Given the description of an element on the screen output the (x, y) to click on. 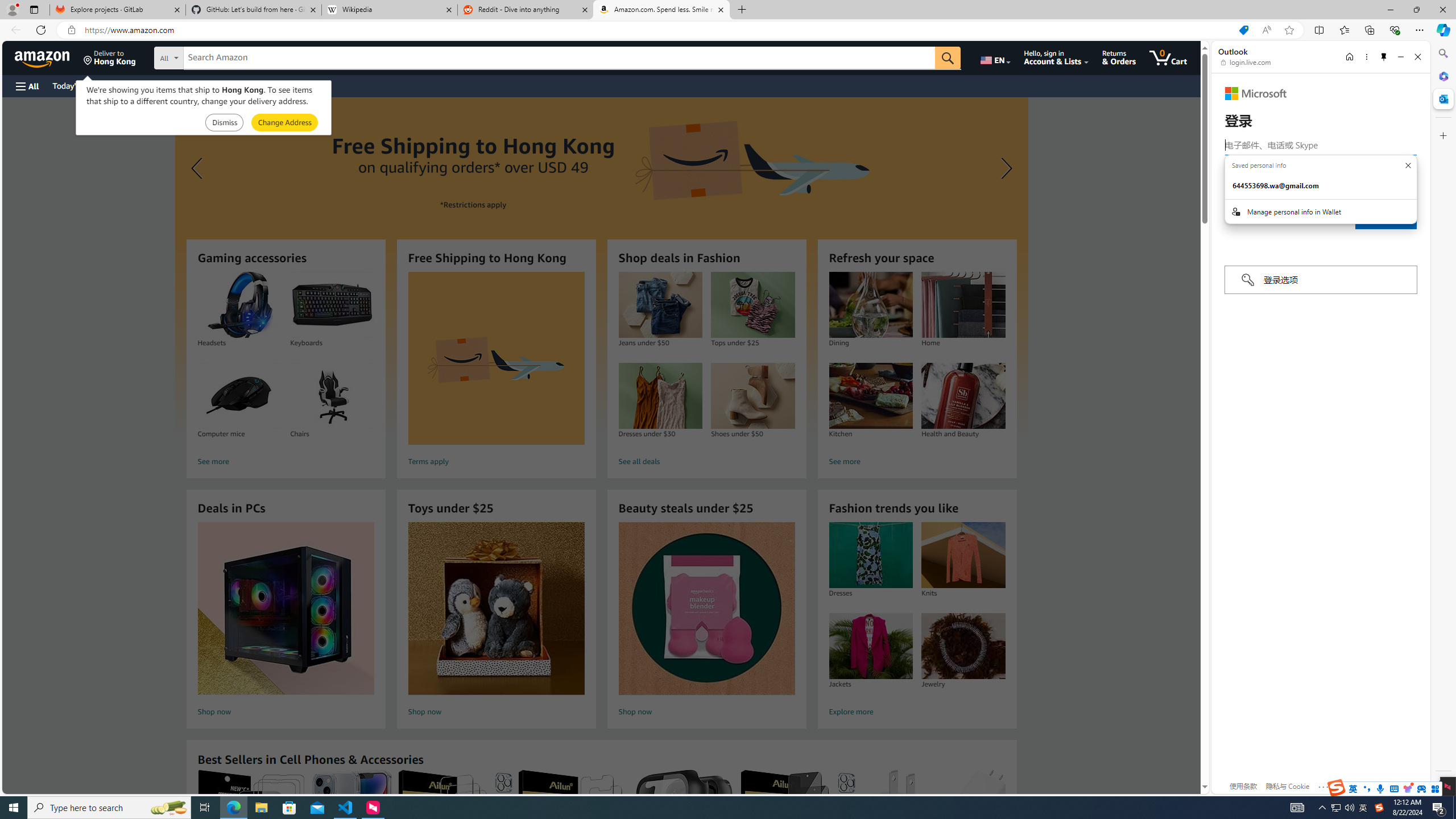
Next slide (1003, 168)
644553698.wa@gmail.com. :Basic info suggestion. (1320, 185)
Computer mice (239, 395)
Headsets (239, 304)
